Given the description of an element on the screen output the (x, y) to click on. 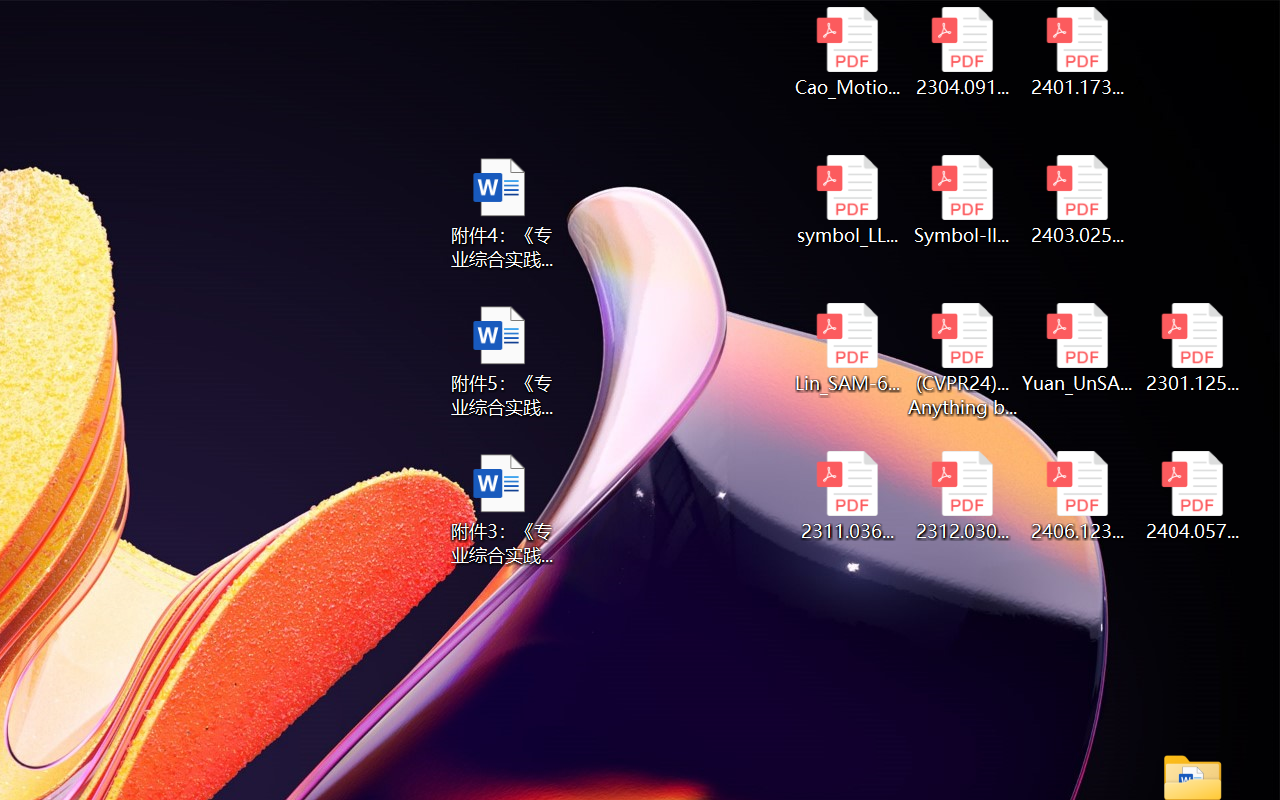
Symbol-llm-v2.pdf (962, 200)
